Given the description of an element on the screen output the (x, y) to click on. 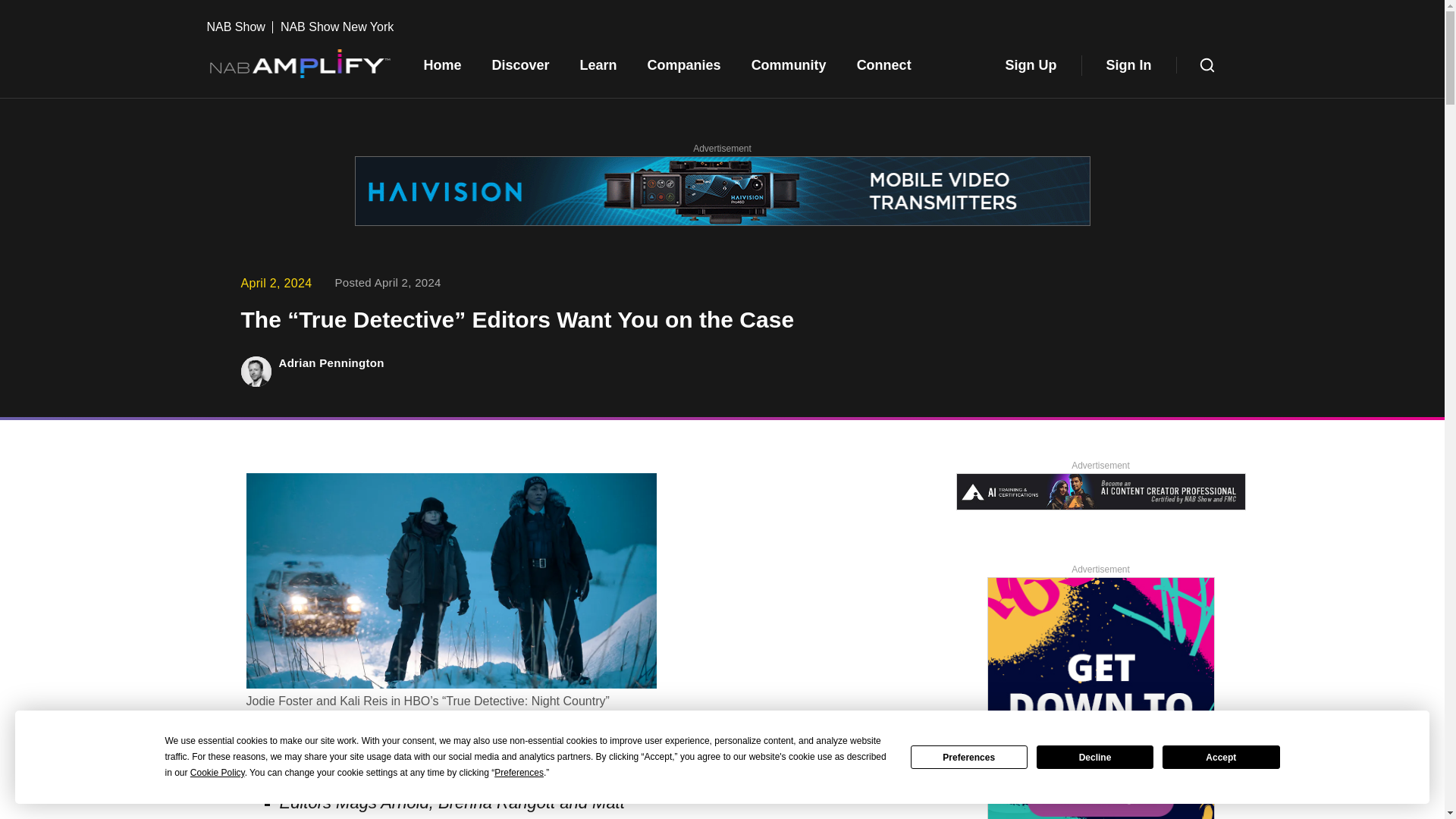
Learn (597, 65)
Decline (1094, 757)
Haivision - Broadcast from anywhere - Learn more  (722, 192)
Community (788, 65)
Home (441, 65)
Companies (683, 65)
NAB Show New York - Reconnect. Reevaluate. Rediscover. (1100, 698)
Search (1206, 64)
Preferences (969, 757)
Sign In (1128, 65)
Connect (883, 65)
NAB Show (239, 27)
Discover (520, 65)
NAB Show New York (337, 27)
Sign Up (1031, 65)
